Given the description of an element on the screen output the (x, y) to click on. 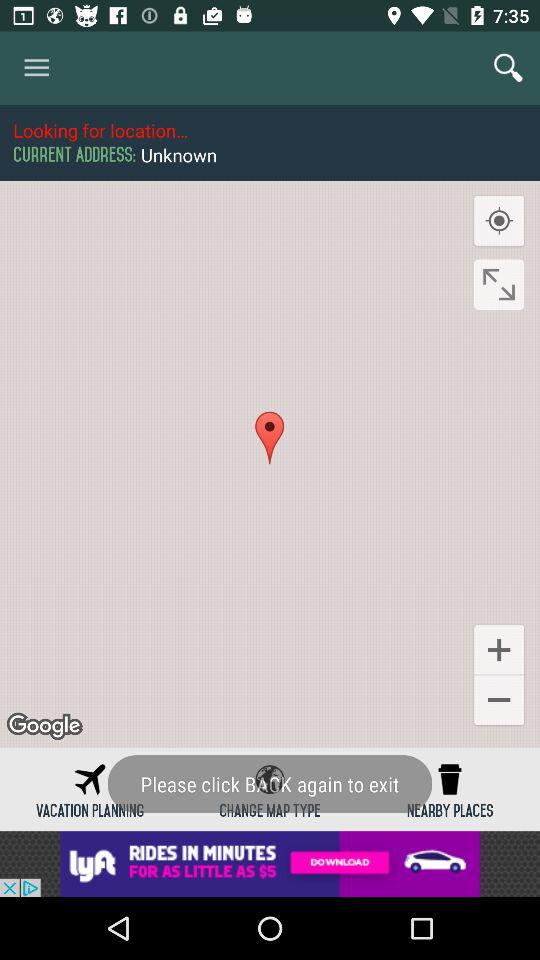
search (508, 67)
